Given the description of an element on the screen output the (x, y) to click on. 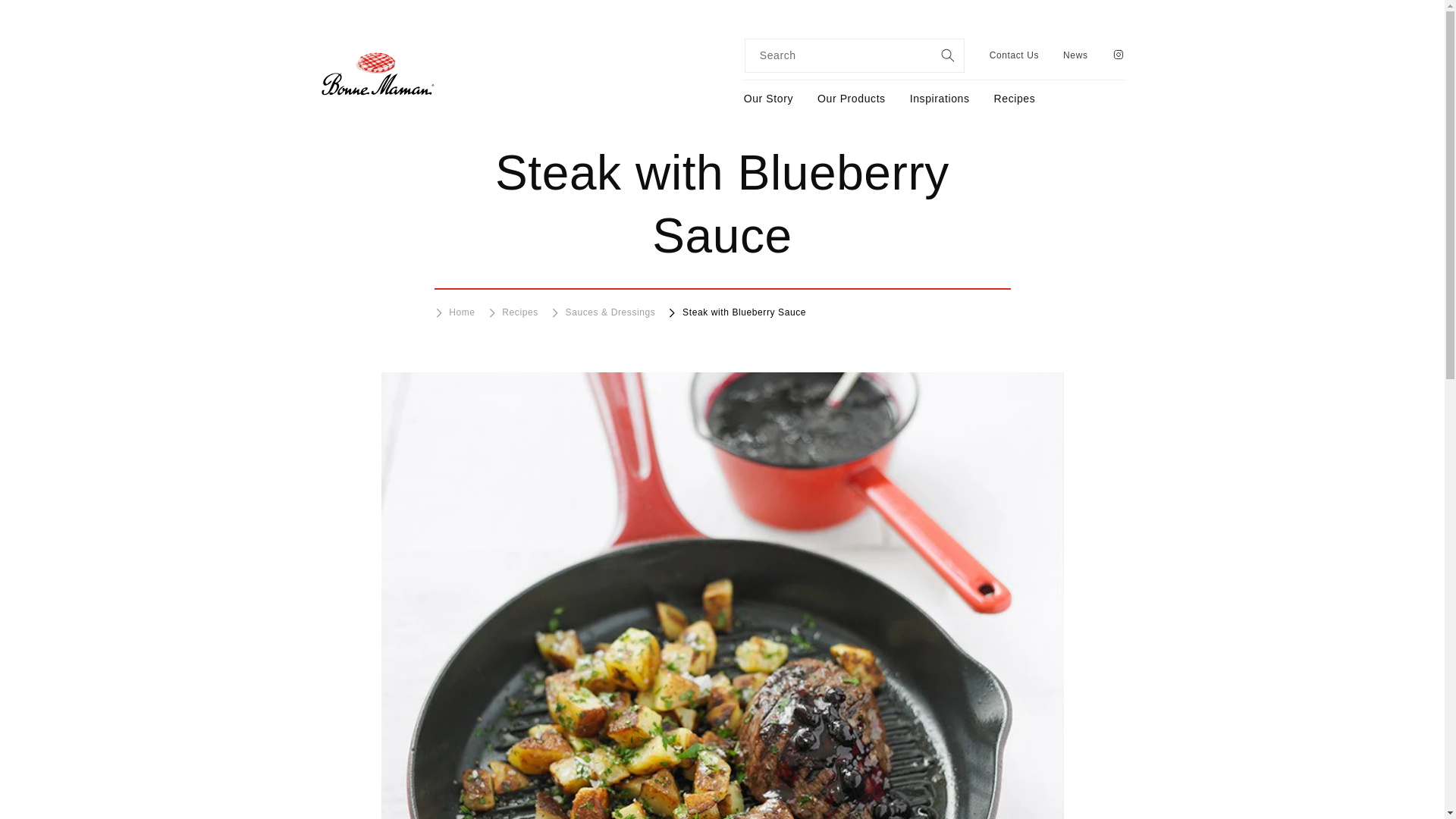
Recipes (1014, 98)
Our Story (768, 98)
Inspirations (939, 98)
Our Products (850, 98)
Skip to content (45, 17)
News (1074, 54)
Contact Us (1014, 54)
